Given the description of an element on the screen output the (x, y) to click on. 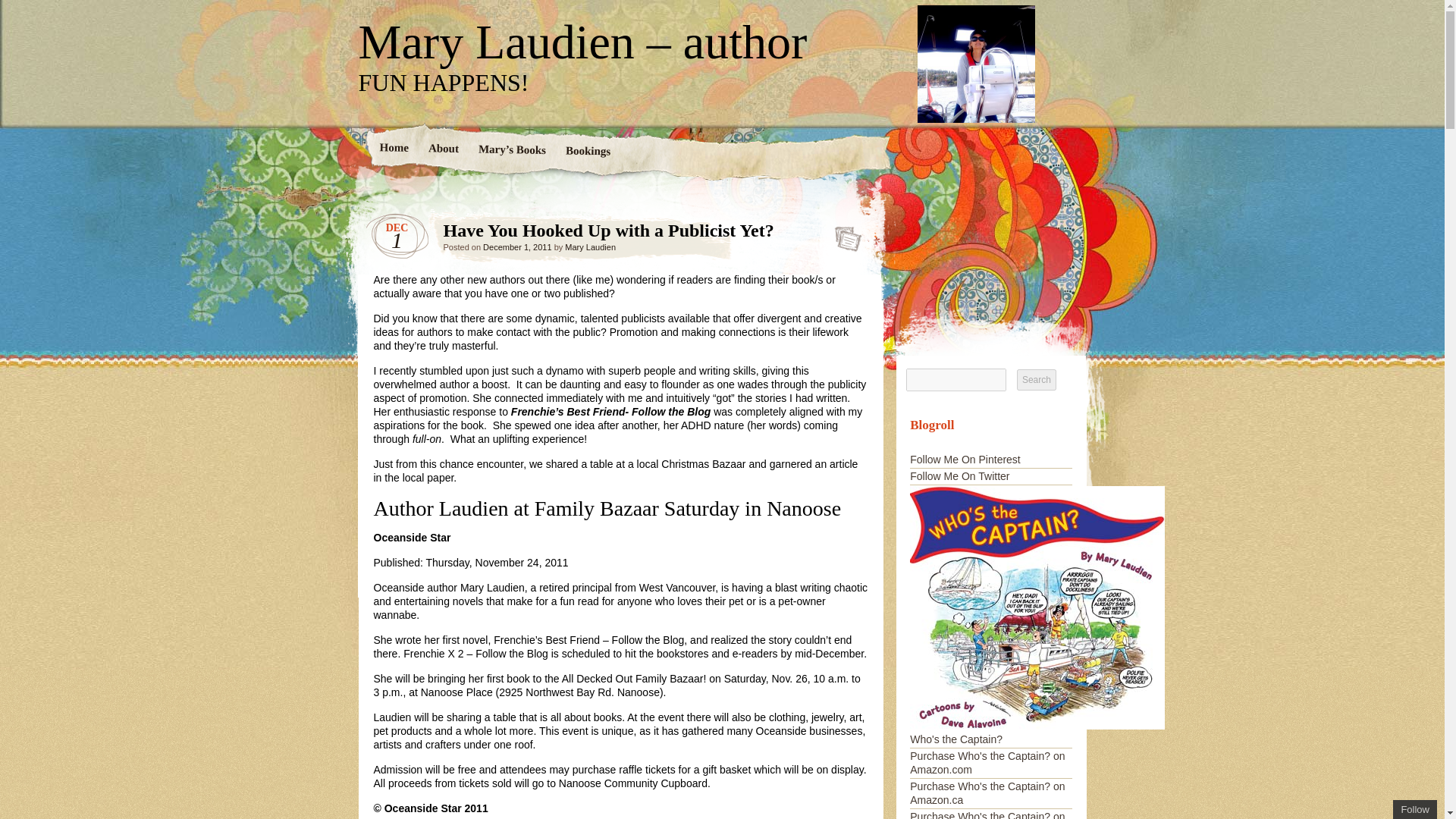
Search (1036, 379)
About (442, 149)
Who's the Captain? (1037, 732)
Follow Me On Pinterest (965, 459)
View all posts by Mary Laudien (589, 246)
Follow Me On Twitter (959, 476)
Purchase Who's the Captain? on Amazon.com (987, 762)
Home (393, 149)
Purchase Who's the Captain? on Amazon.co.uk (987, 814)
